Given the description of an element on the screen output the (x, y) to click on. 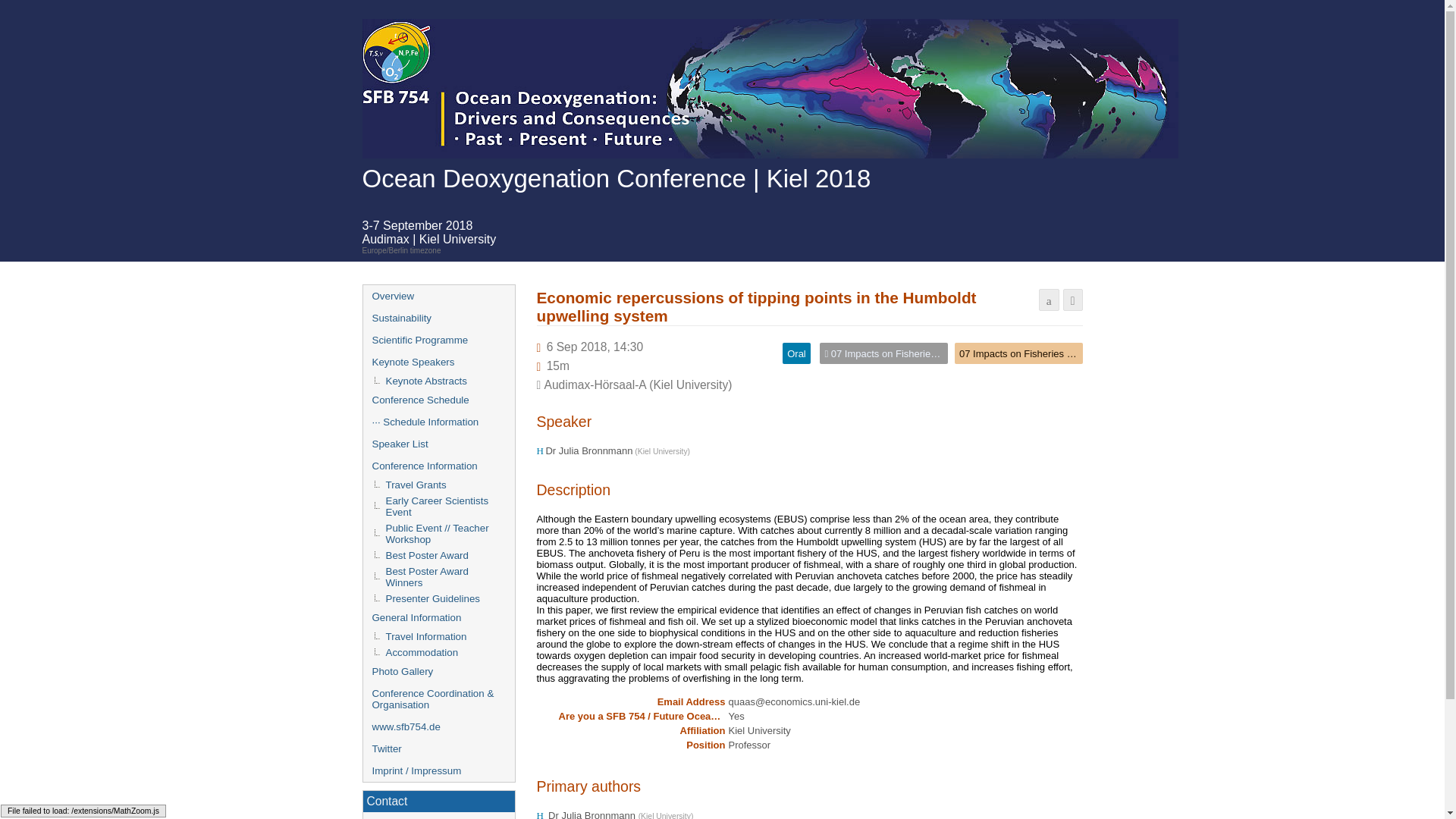
Conference Schedule (437, 400)
Presenter Guidelines (437, 598)
Speaker List (437, 444)
Overview (437, 296)
Best Poster Award (437, 555)
Keynote Speakers (437, 362)
Accommodation (437, 652)
Twitter (437, 748)
Travel Grants (437, 484)
Scientific Programme (437, 340)
